Given the description of an element on the screen output the (x, y) to click on. 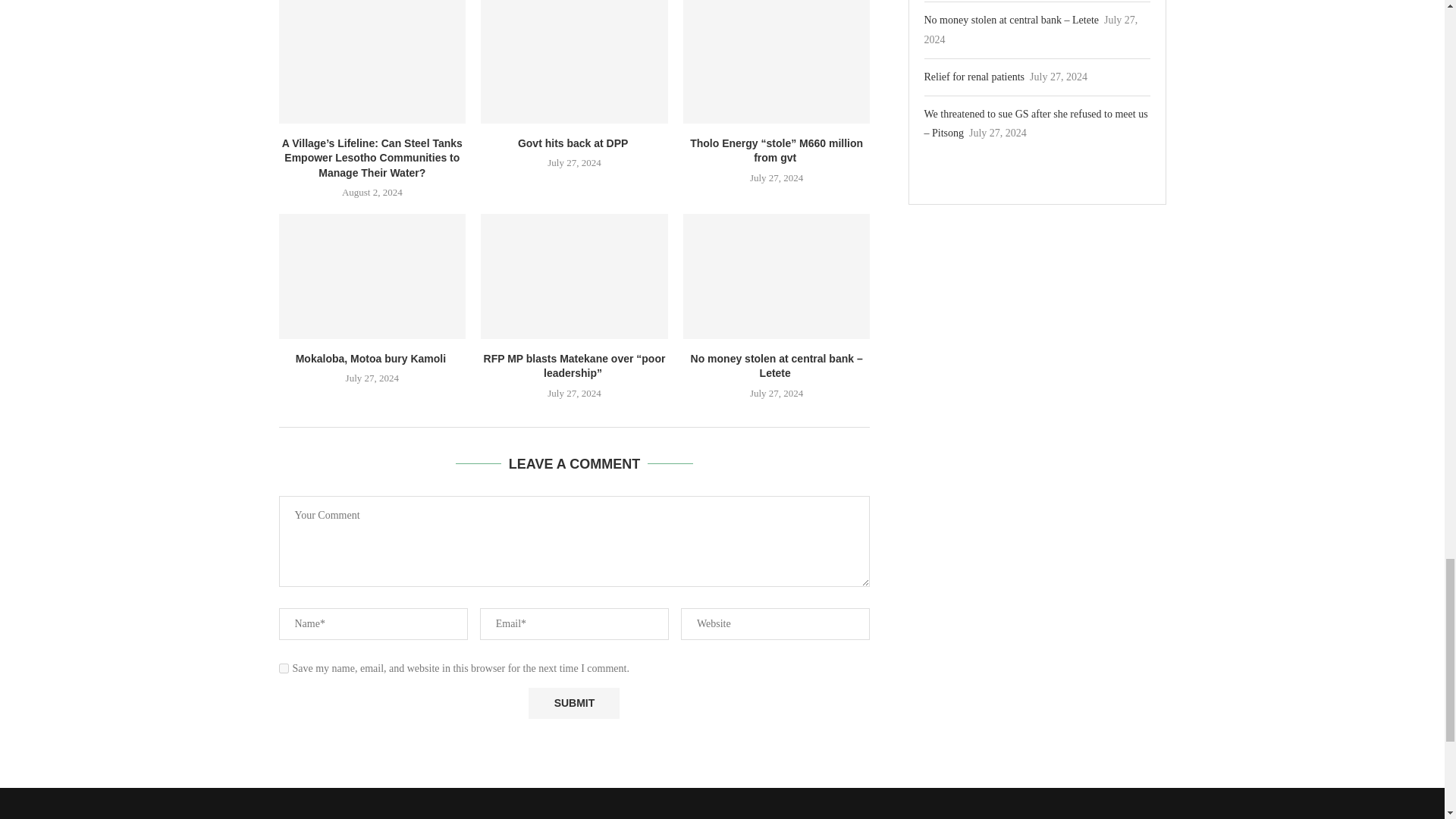
Submit (574, 703)
yes (283, 668)
